Given the description of an element on the screen output the (x, y) to click on. 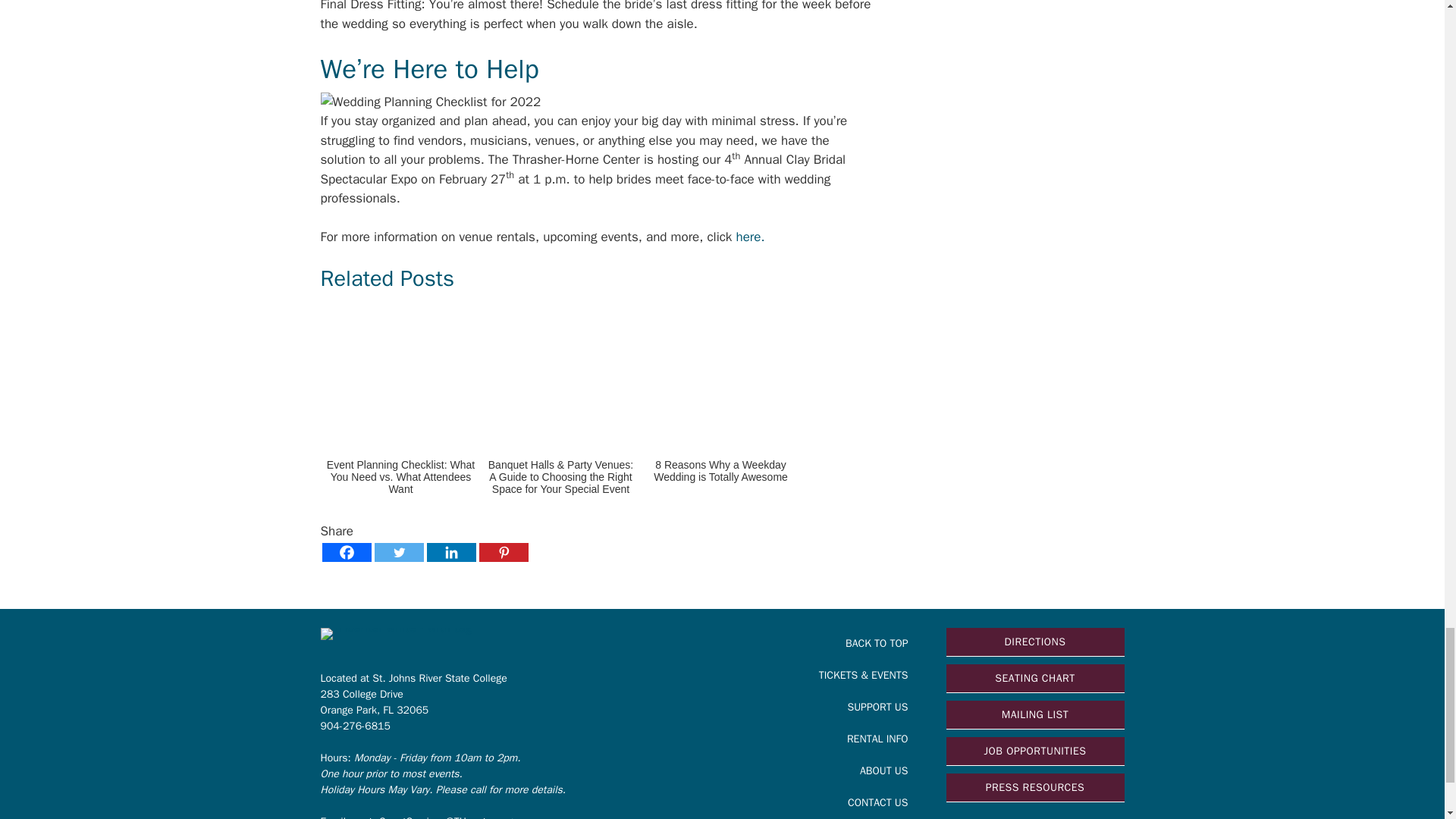
Pinterest (503, 551)
Facebook (346, 551)
Linkedin (451, 551)
Twitter (398, 551)
